Given the description of an element on the screen output the (x, y) to click on. 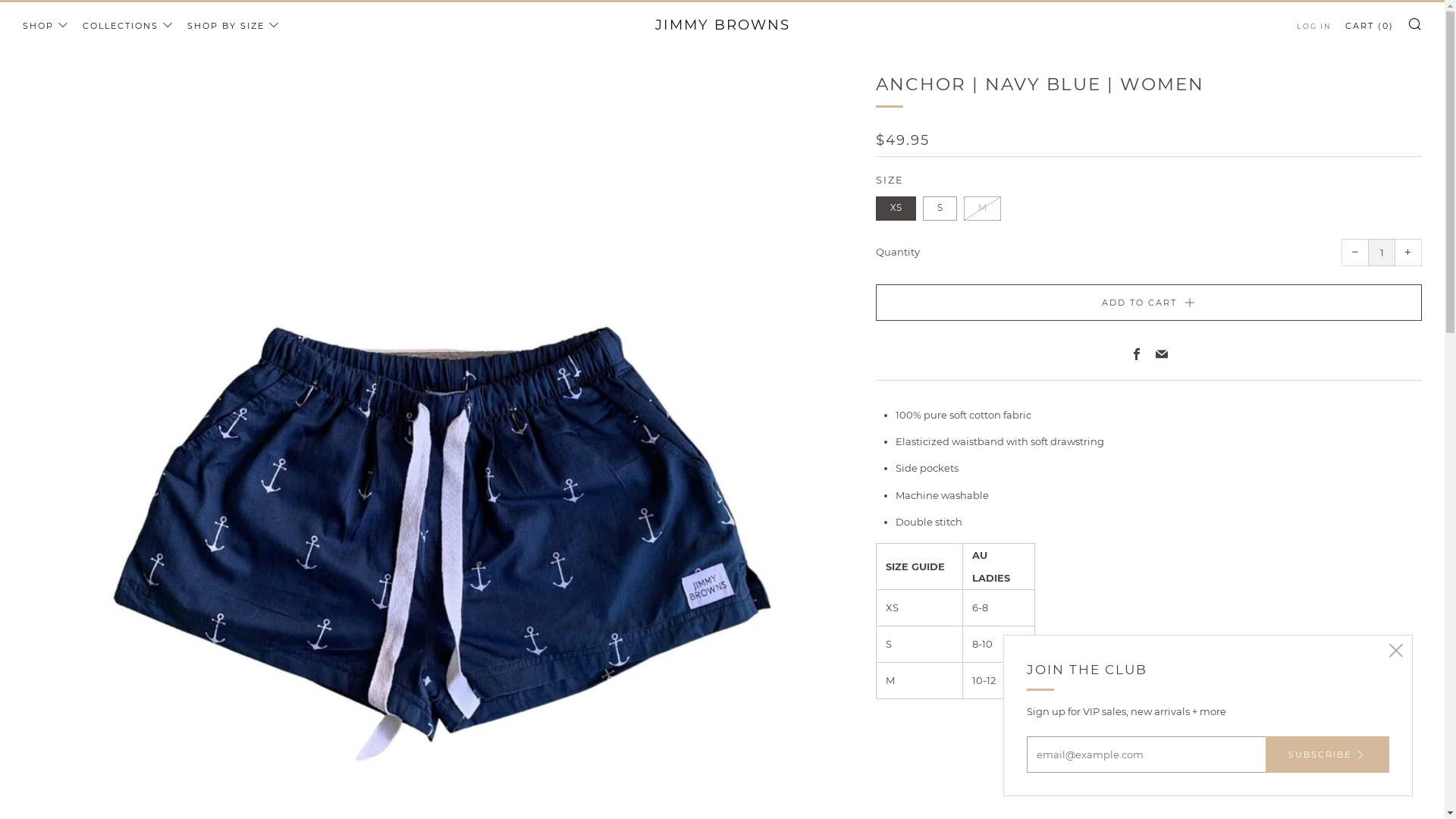
SEARCH Element type: text (1414, 23)
SHOP Element type: text (45, 25)
SHOP BY SIZE Element type: text (233, 25)
LOG IN Element type: text (1313, 26)
+
Increase item quantity by one Element type: text (1407, 252)
Email Element type: text (1161, 355)
CART (0) Element type: text (1369, 25)
SUBSCRIBE Element type: text (1327, 754)
ADD TO CART Element type: text (1148, 302)
Facebook Element type: text (1135, 355)
Close (esc) Element type: text (1396, 651)
COLLECTIONS Element type: text (127, 25)
JIMMY BROWNS Element type: text (722, 25)
